Given the description of an element on the screen output the (x, y) to click on. 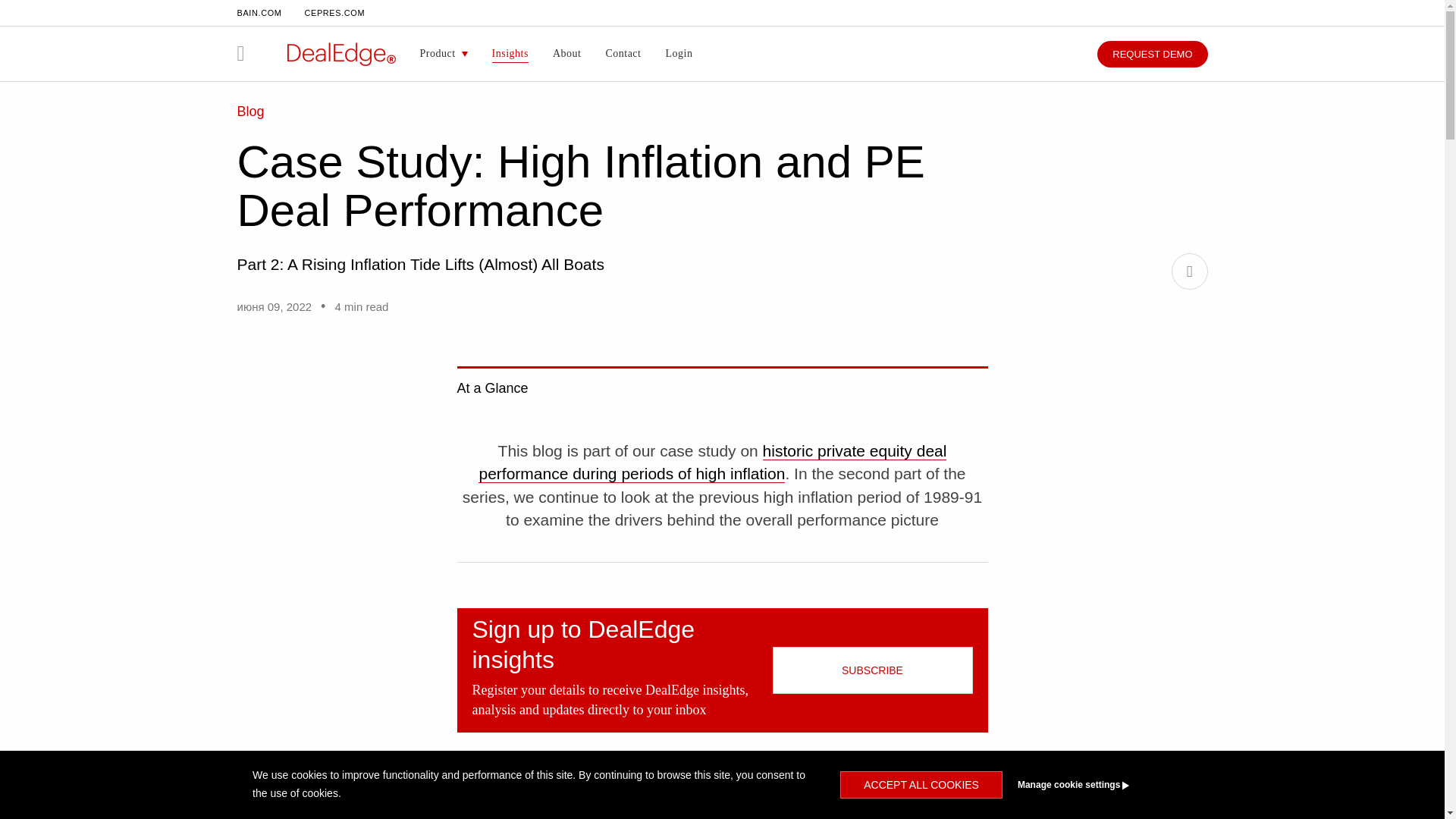
Print (1188, 271)
BAIN.COM (258, 12)
Login (678, 53)
Contact (622, 53)
Manage cookie settings (1101, 784)
CEPRES.COM (334, 12)
Product (443, 53)
CLOSE (1179, 16)
Insights (510, 53)
